Given the description of an element on the screen output the (x, y) to click on. 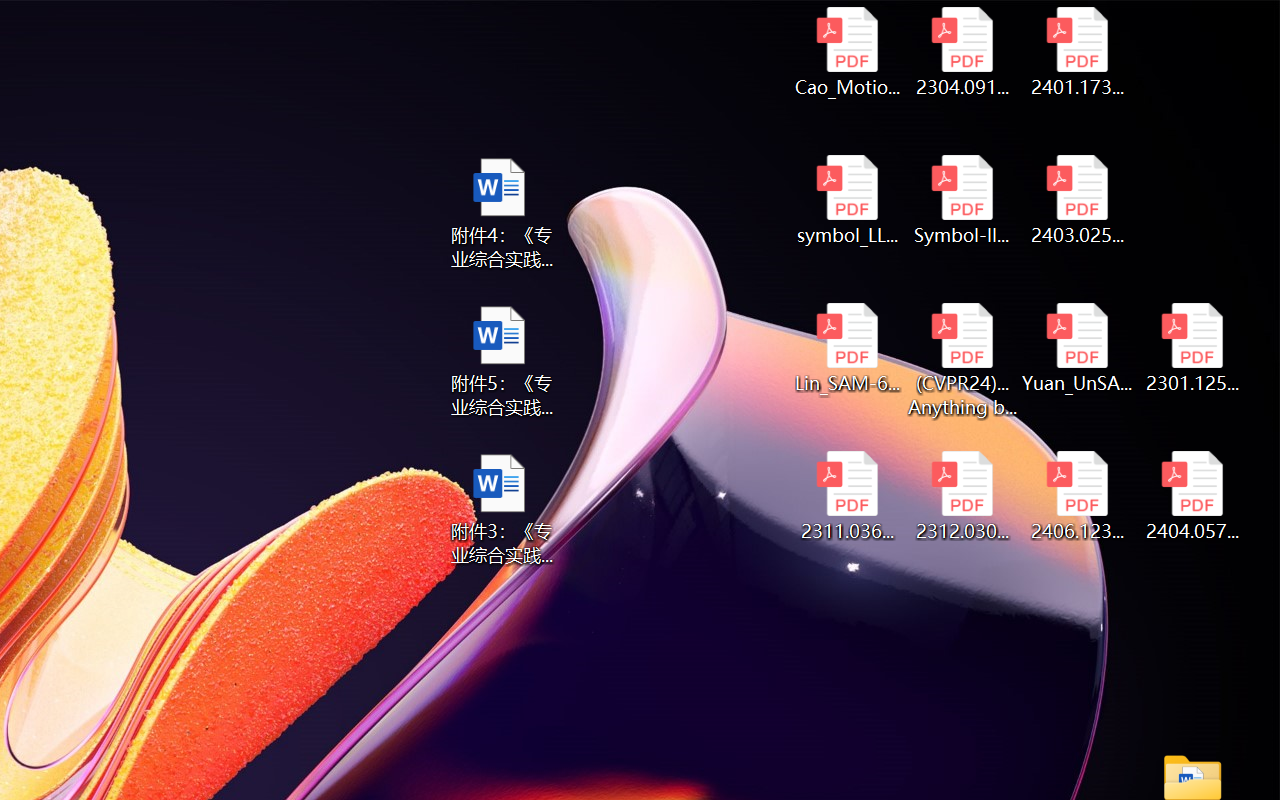
2401.17399v1.pdf (1077, 52)
